Given the description of an element on the screen output the (x, y) to click on. 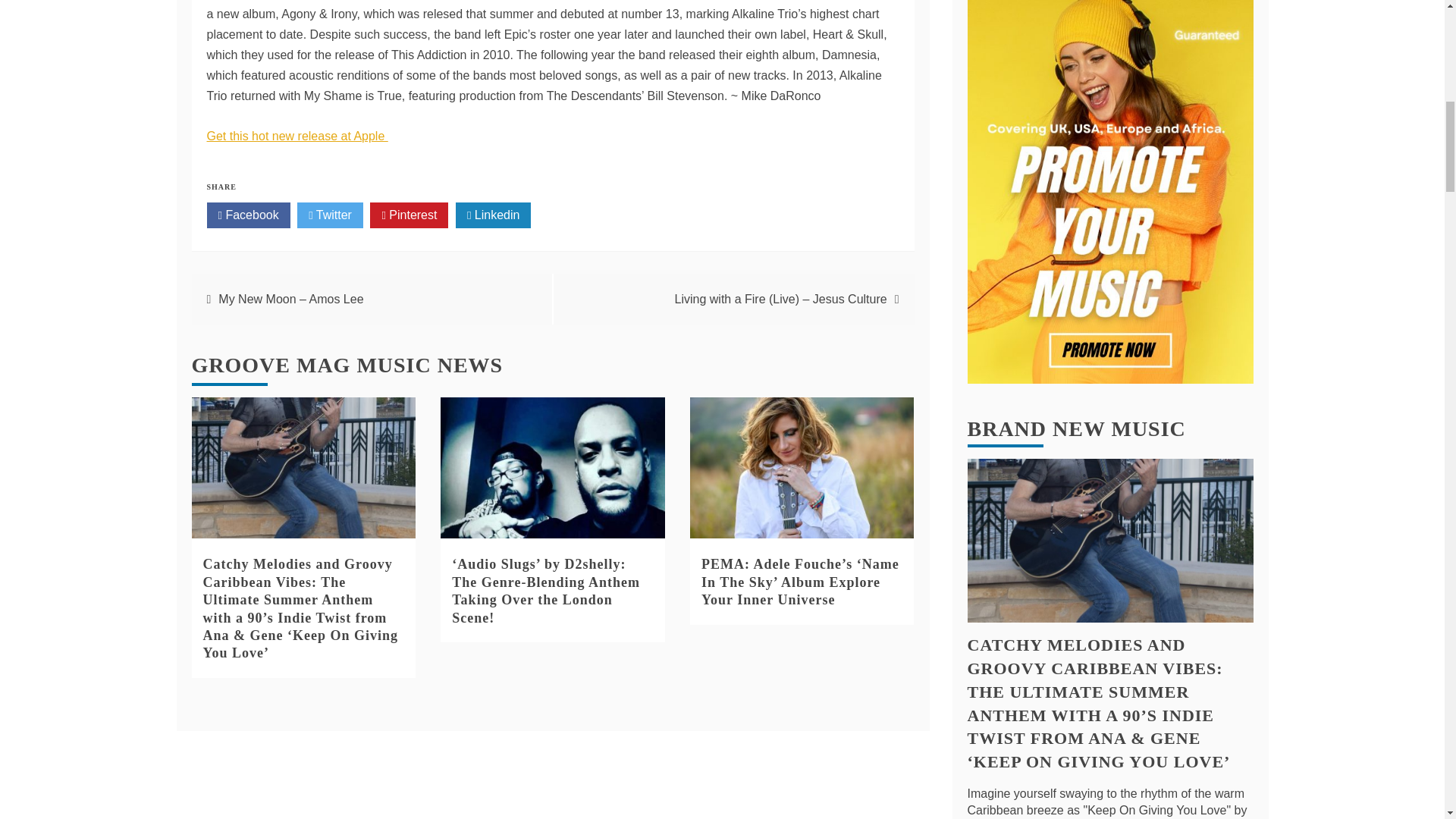
Pinterest (408, 215)
Facebook (247, 215)
BRAND NEW MUSIC (1077, 428)
Twitter (329, 215)
Linkedin (493, 215)
Get this hot new release at Apple  (296, 135)
